Given the description of an element on the screen output the (x, y) to click on. 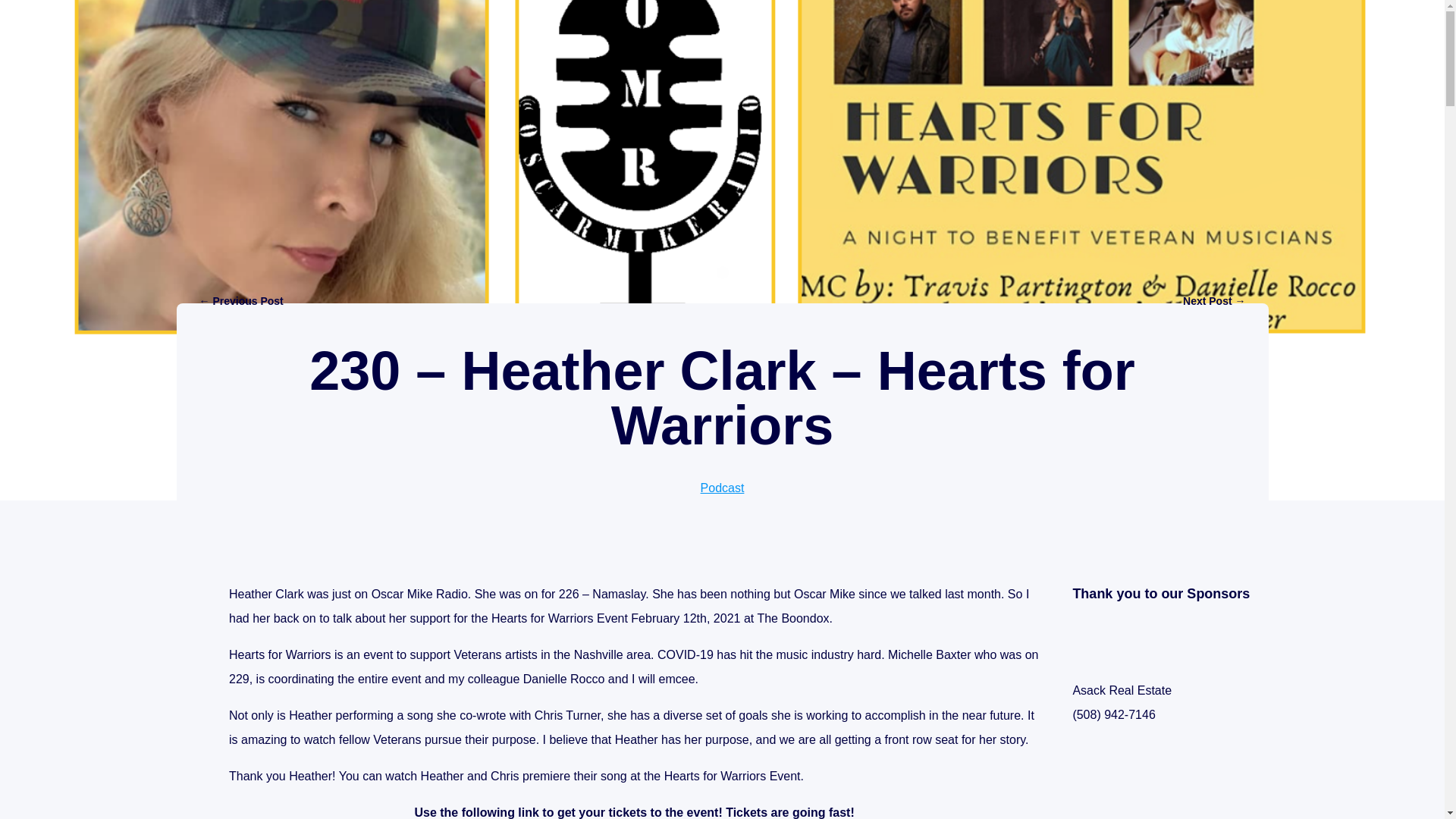
Podcast (722, 487)
